Given the description of an element on the screen output the (x, y) to click on. 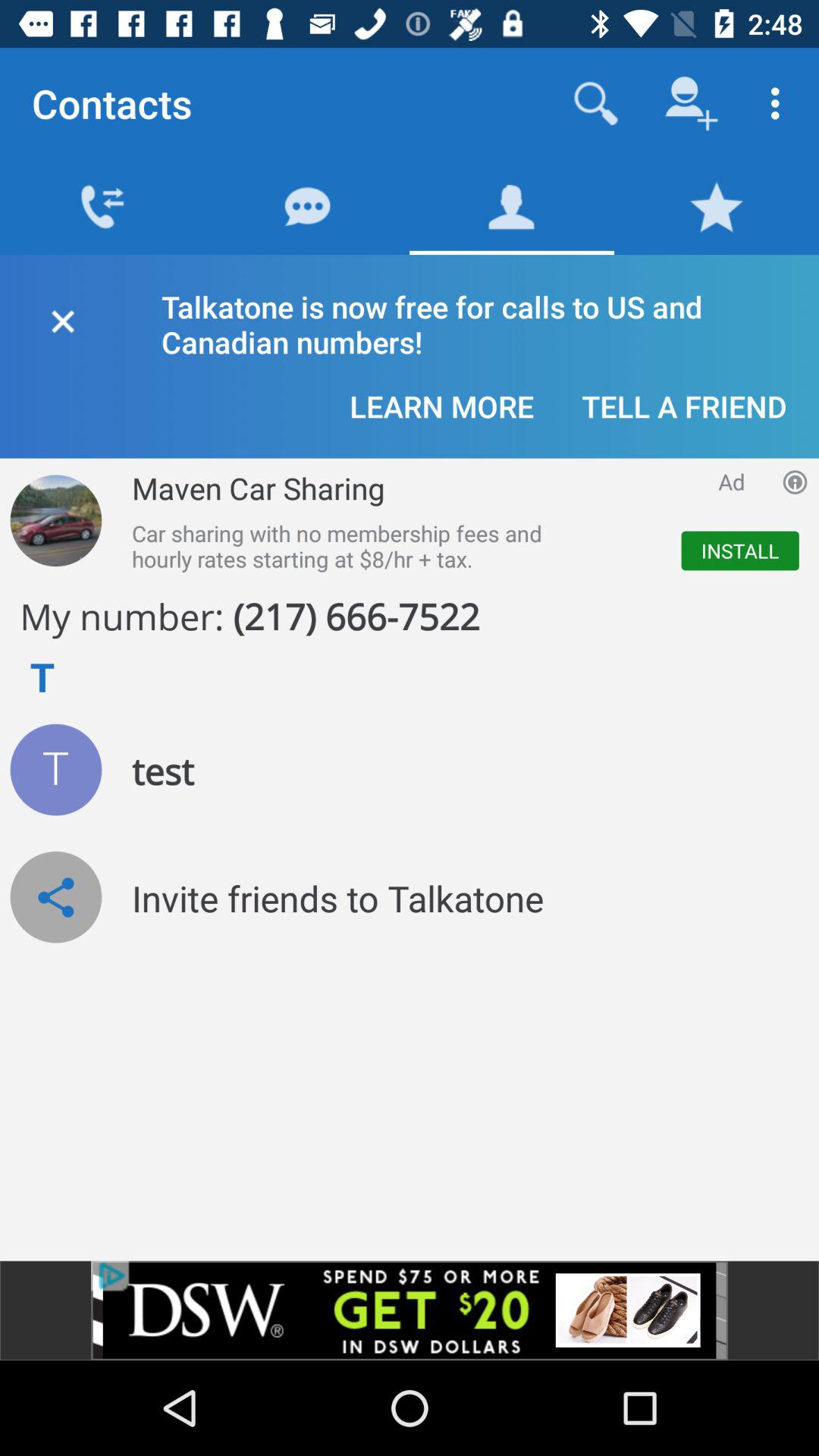
search numbers (595, 103)
